Given the description of an element on the screen output the (x, y) to click on. 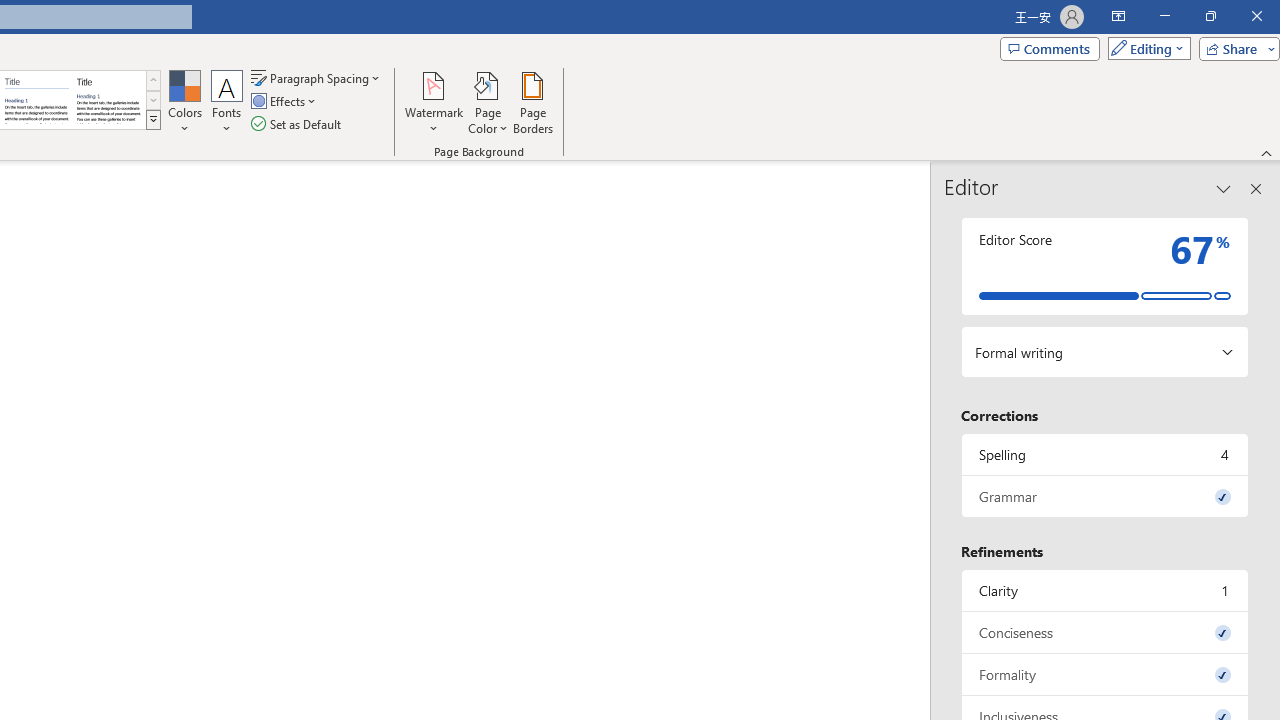
Formality, 0 issues. Press space or enter to review items. (1105, 673)
Spelling, 4 issues. Press space or enter to review items. (1105, 454)
Fonts (227, 102)
Style Set (153, 120)
Page Color (487, 102)
Editing (1144, 47)
Clarity, 1 issue. Press space or enter to review items. (1105, 590)
Effects (285, 101)
